Given the description of an element on the screen output the (x, y) to click on. 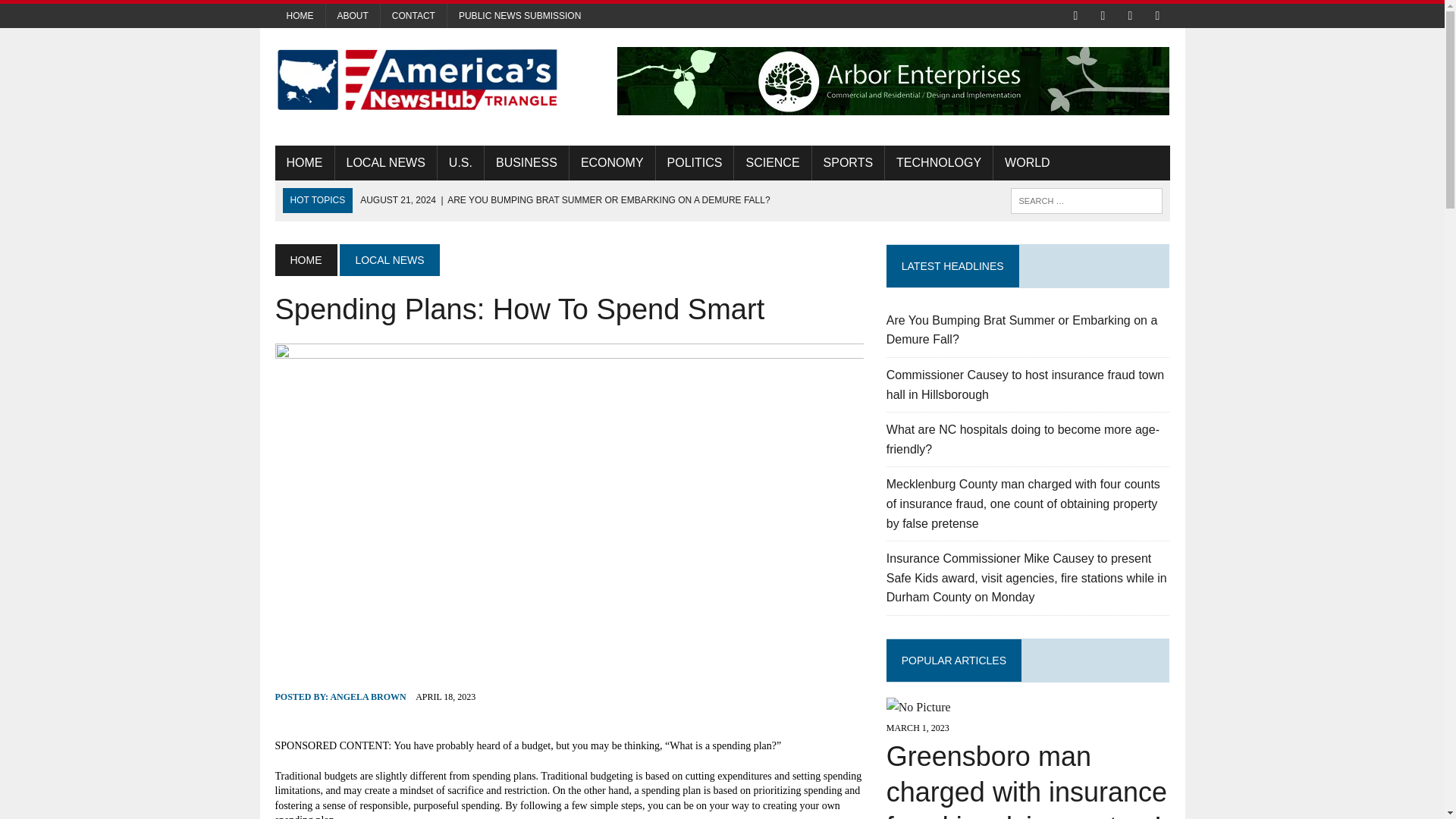
SPORTS (848, 162)
ABOUT (353, 15)
LOCAL NEWS (389, 260)
BUSINESS (526, 162)
TECHNOLOGY (938, 162)
HOME (305, 260)
Search (75, 14)
SCIENCE (771, 162)
LOCAL NEWS (385, 162)
